Given the description of an element on the screen output the (x, y) to click on. 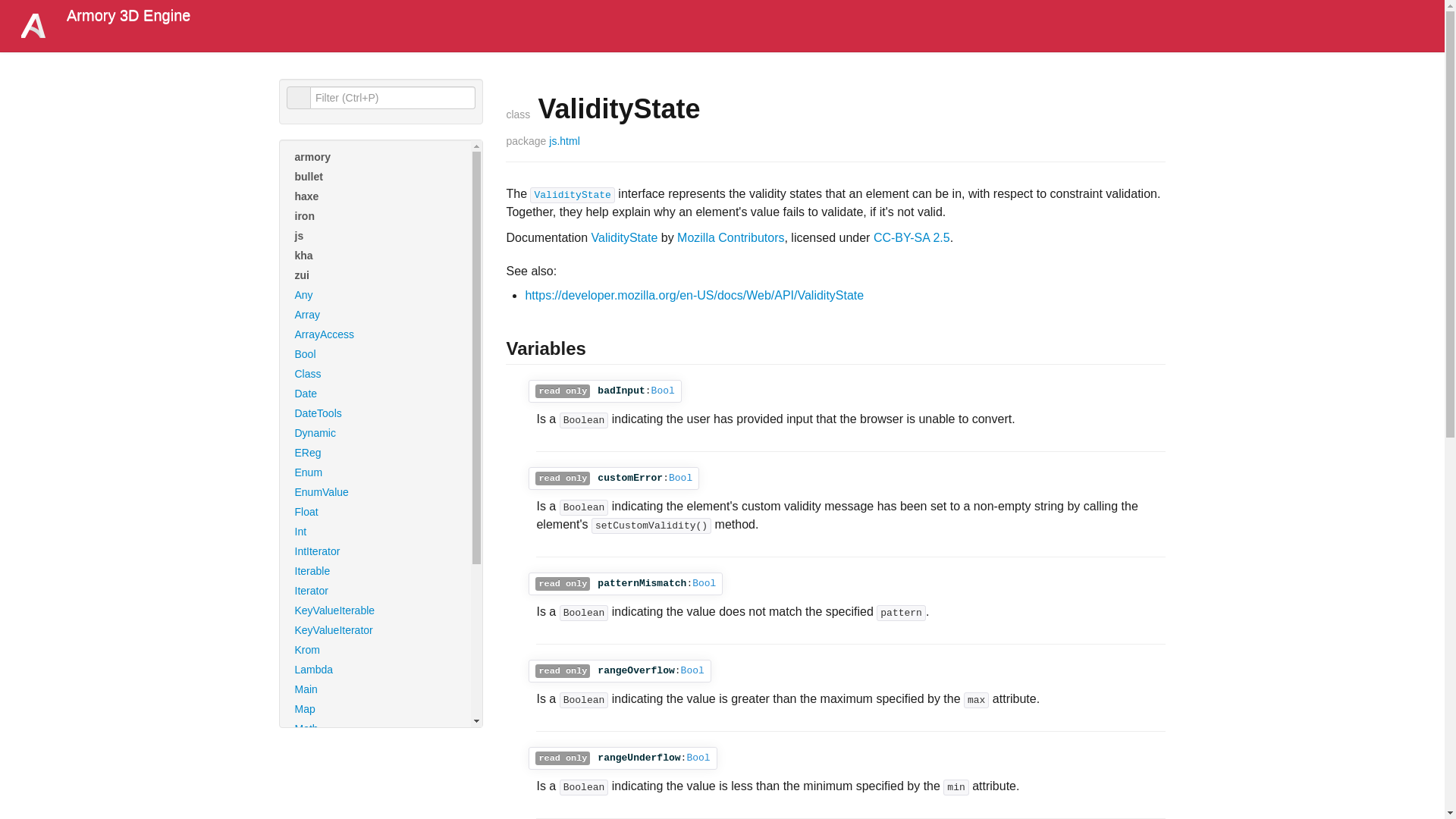
Armory 3D Engine (127, 15)
Toggle Dark Mode (207, 15)
armory (374, 157)
